Given the description of an element on the screen output the (x, y) to click on. 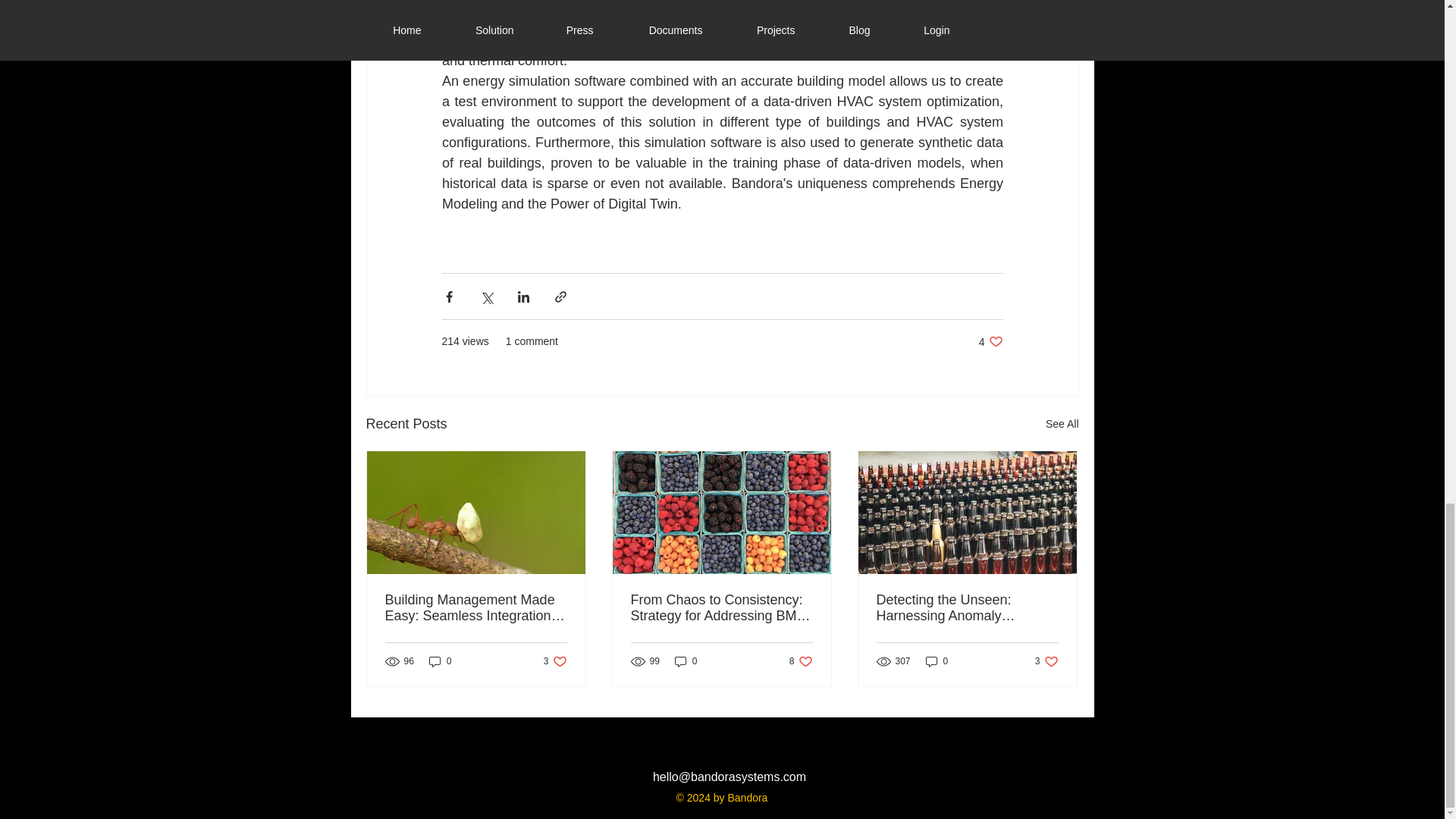
0 (555, 660)
See All (937, 660)
0 (1061, 423)
0 (440, 660)
